Given the description of an element on the screen output the (x, y) to click on. 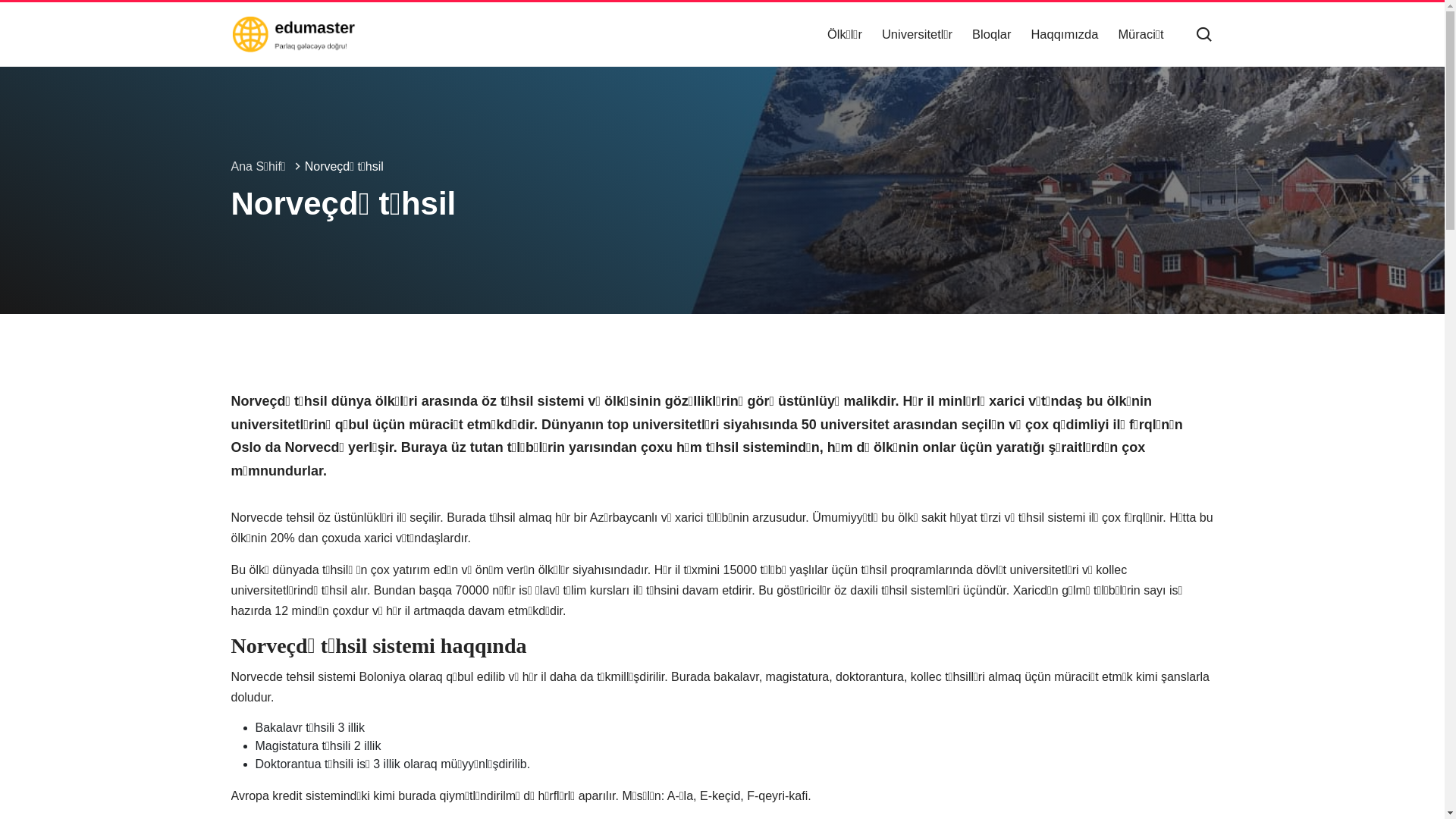
Bloqlar Element type: text (991, 34)
Xaricdetehsil Element type: hover (292, 34)
